Given the description of an element on the screen output the (x, y) to click on. 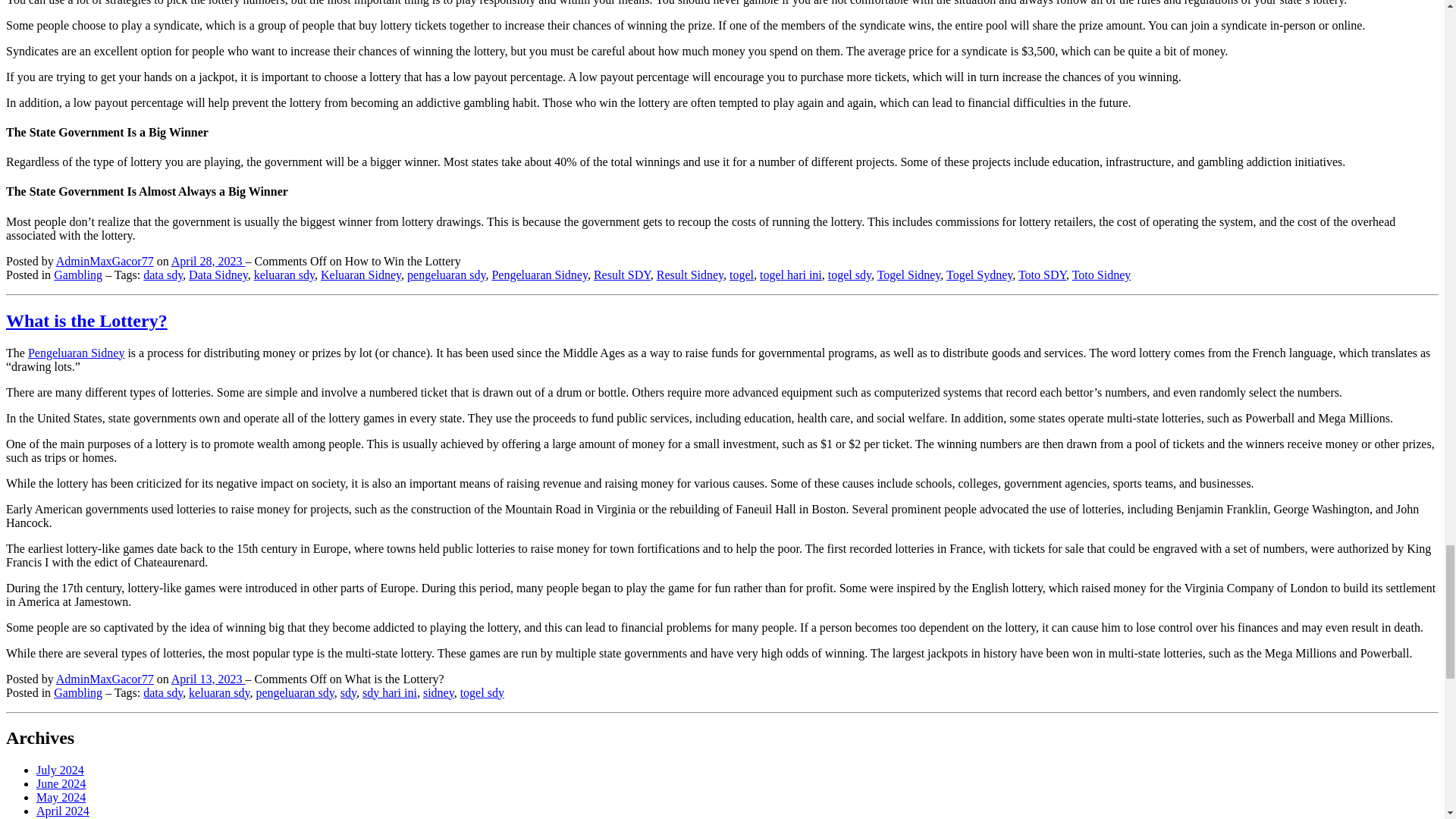
sidney (438, 691)
June 2024 (60, 783)
data sdy (162, 691)
What is the Lottery? (86, 320)
April 13, 2023 (208, 677)
Toto SDY (1041, 274)
Gambling (77, 691)
togel sdy (849, 274)
Result SDY (622, 274)
togel sdy (481, 691)
togel hari ini (791, 274)
July 2024 (60, 769)
Data Sidney (218, 274)
April 28, 2023 (208, 260)
sdy (348, 691)
